Given the description of an element on the screen output the (x, y) to click on. 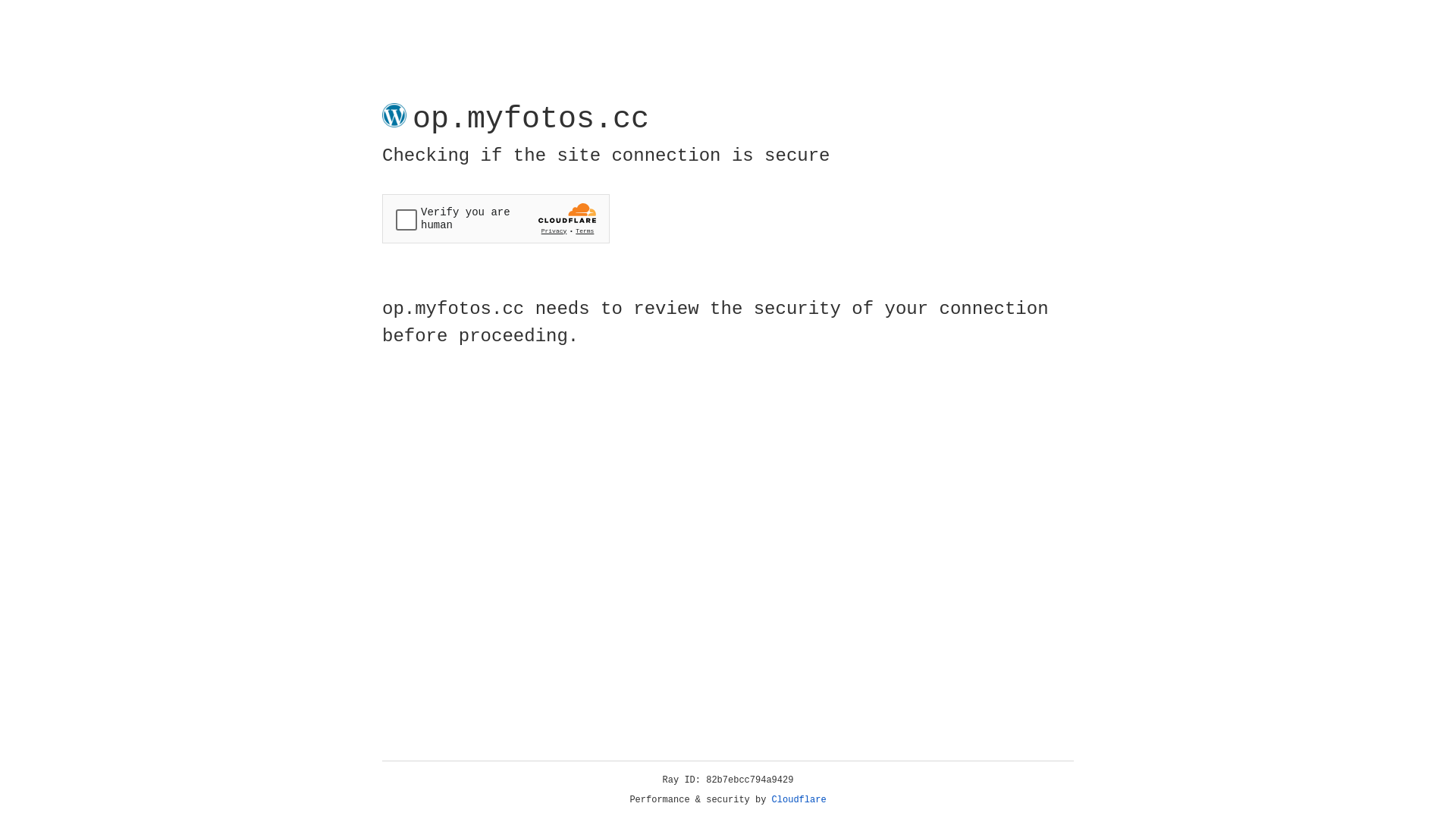
Widget containing a Cloudflare security challenge Element type: hover (495, 218)
Cloudflare Element type: text (798, 799)
